Given the description of an element on the screen output the (x, y) to click on. 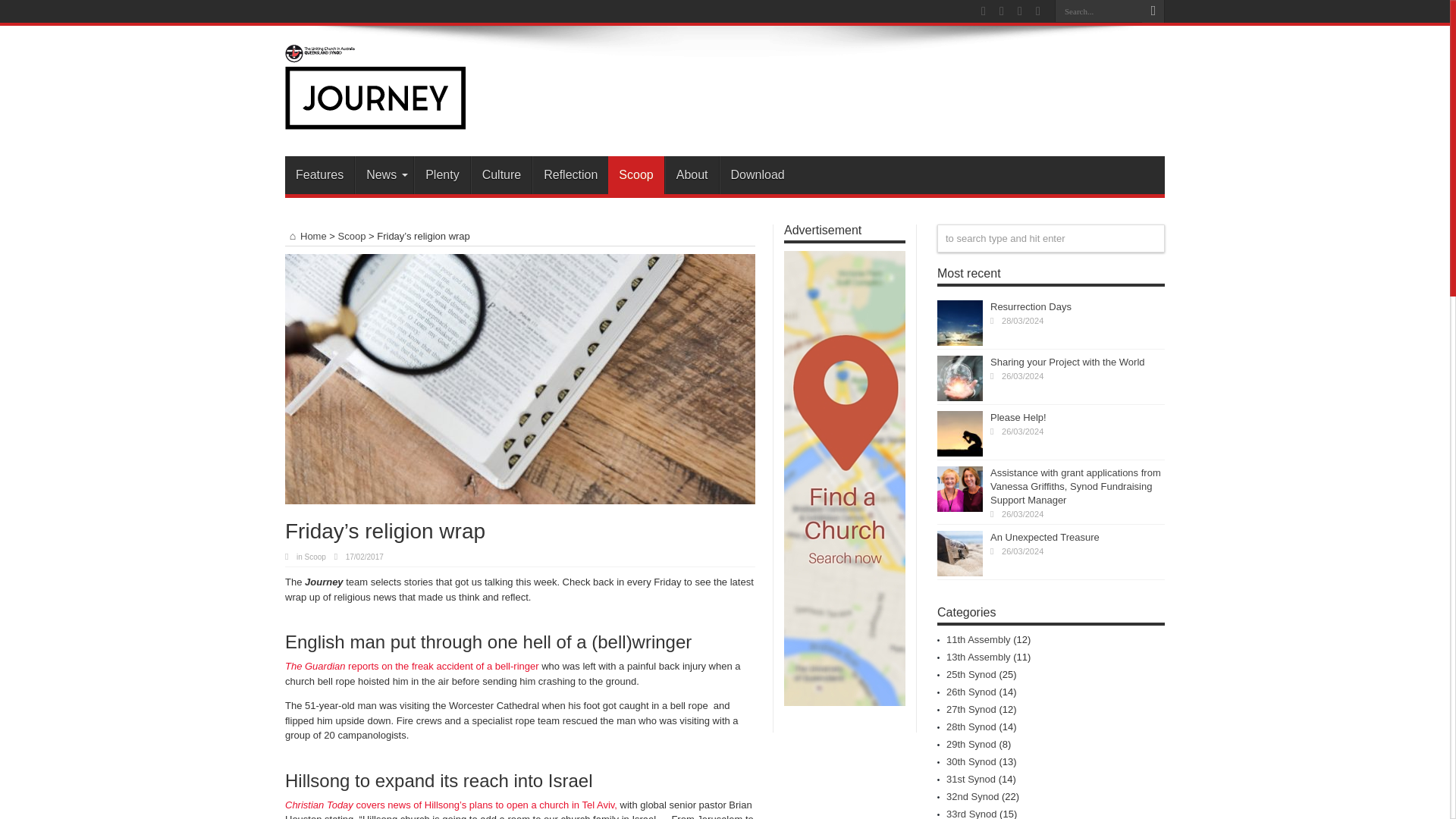
Scoop (635, 175)
Christian Today (320, 804)
Culture (501, 175)
Search (1152, 11)
Search... (1097, 11)
The Guardian (316, 665)
Scoop (315, 556)
Plenty (440, 175)
Home (305, 235)
News (384, 175)
JourneyOnline (375, 117)
to search type and hit enter (1050, 238)
Scoop (351, 235)
Download (756, 175)
reports on the freak accident of a bell-ringer (442, 665)
